Given the description of an element on the screen output the (x, y) to click on. 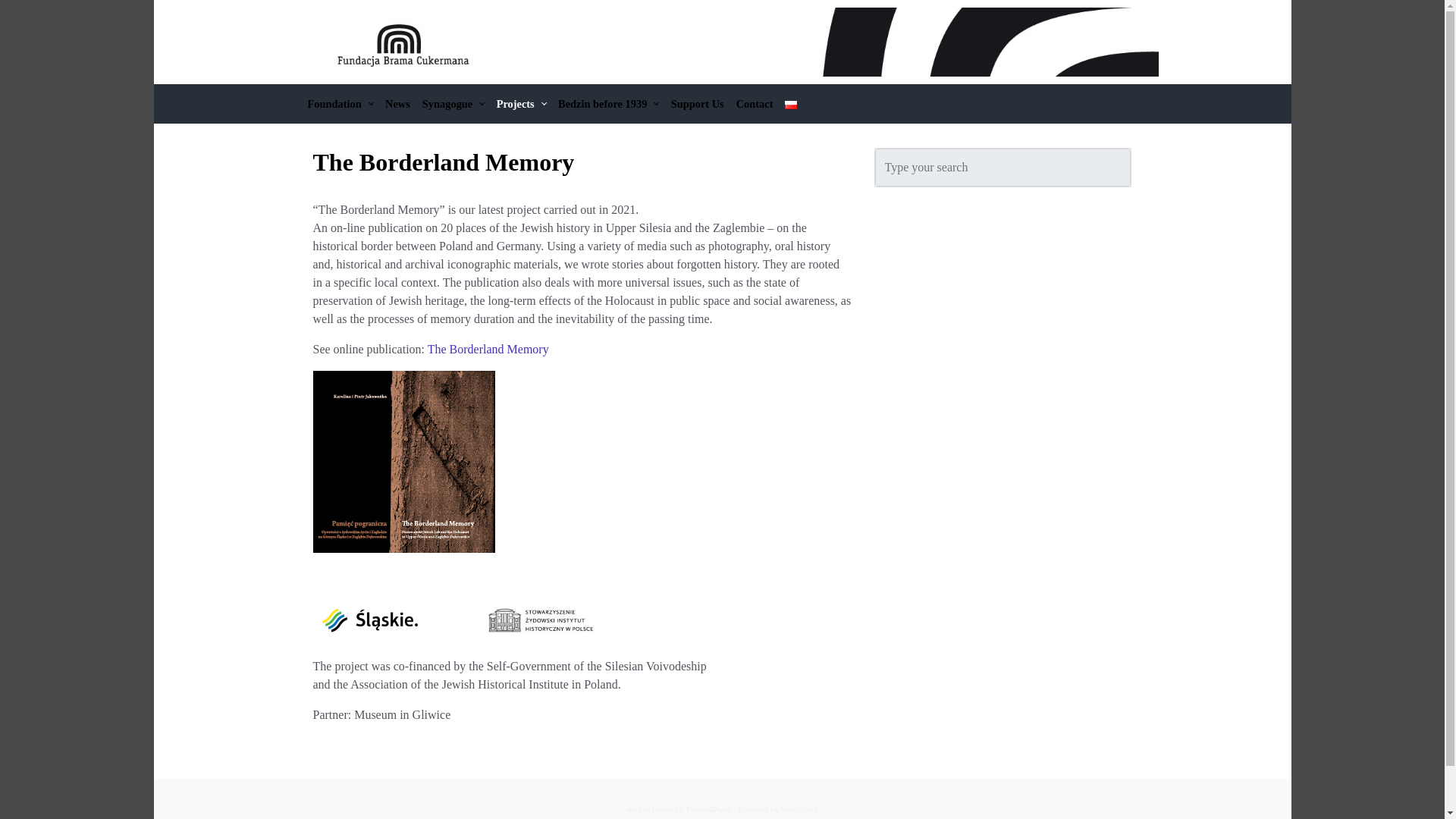
Projects (520, 103)
WordPress (798, 809)
Bedzin before 1939 (608, 103)
Support Us (697, 103)
Contact (754, 103)
News (397, 103)
Synagogue (453, 103)
Skip to main content (16, 7)
The Borderland Memory (488, 349)
evolve (638, 809)
